Given the description of an element on the screen output the (x, y) to click on. 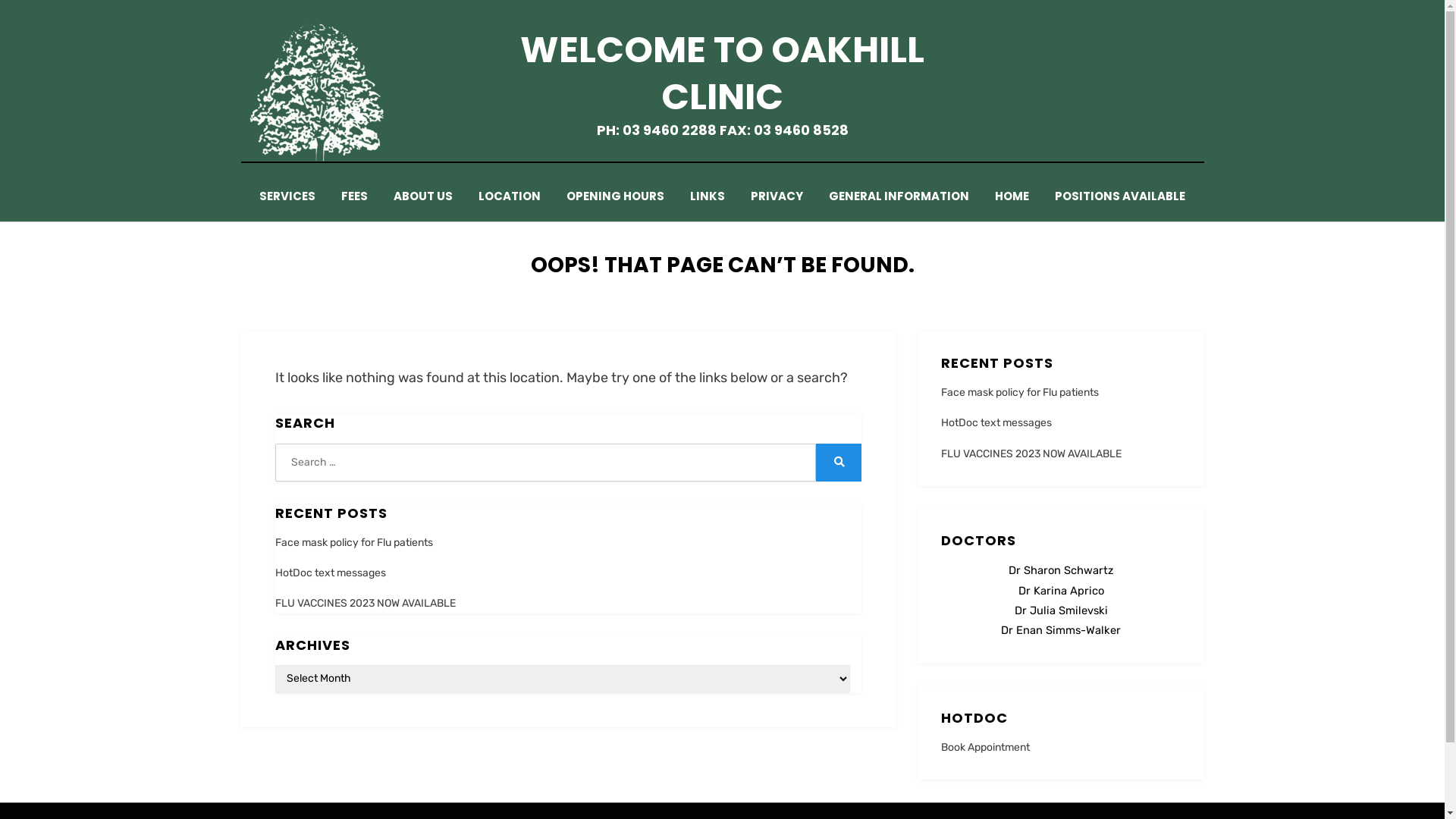
WELCOME TO OAKHILL CLINIC Element type: text (722, 73)
LOCATION Element type: text (509, 195)
GENERAL INFORMATION Element type: text (898, 195)
LINKS Element type: text (707, 195)
FLU VACCINES 2023 NOW AVAILABLE Element type: text (364, 602)
SERVICES Element type: text (287, 195)
Search for: Element type: hover (544, 462)
OPENING HOURS Element type: text (615, 195)
ABOUT US Element type: text (422, 195)
Face mask policy for Flu patients Element type: text (1019, 391)
HotDoc text messages Element type: text (996, 422)
Face mask policy for Flu patients Element type: text (353, 542)
HOME Element type: text (1011, 195)
PRIVACY Element type: text (776, 195)
FLU VACCINES 2023 NOW AVAILABLE Element type: text (1031, 453)
POSITIONS AVAILABLE Element type: text (1119, 195)
Book Appointment Element type: text (985, 746)
HotDoc text messages Element type: text (329, 572)
FEES Element type: text (354, 195)
